Given the description of an element on the screen output the (x, y) to click on. 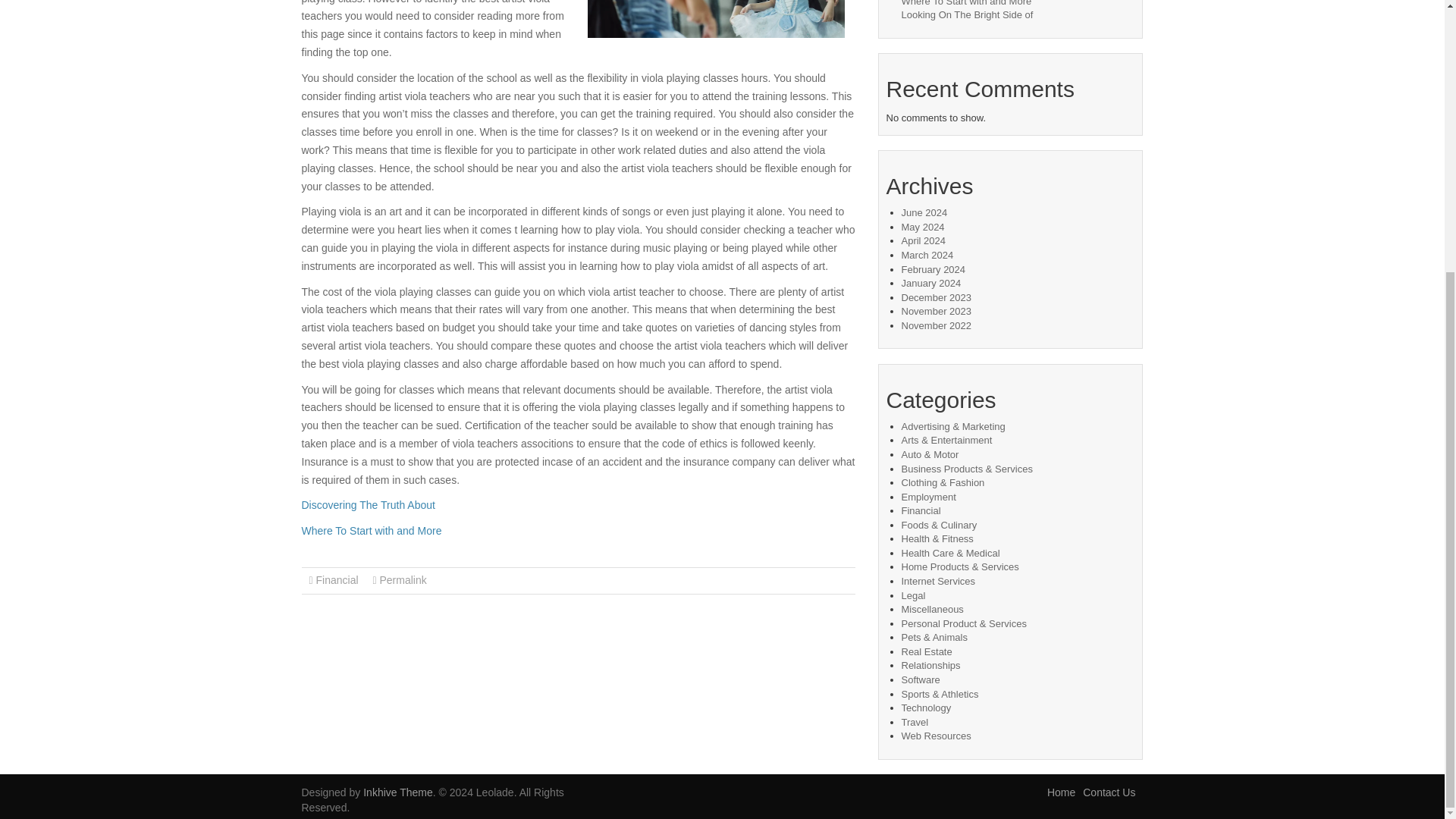
February 2024 (933, 269)
April 2024 (922, 240)
Discovering The Truth About (368, 504)
Employment (928, 496)
Internet Services (938, 581)
Financial (336, 580)
Financial (920, 510)
November 2022 (936, 325)
May 2024 (922, 226)
Looking On The Bright Side of (966, 14)
Where To Start with and More (371, 530)
January 2024 (930, 283)
Where To Start with and More (965, 3)
December 2023 (936, 297)
June 2024 (924, 212)
